Given the description of an element on the screen output the (x, y) to click on. 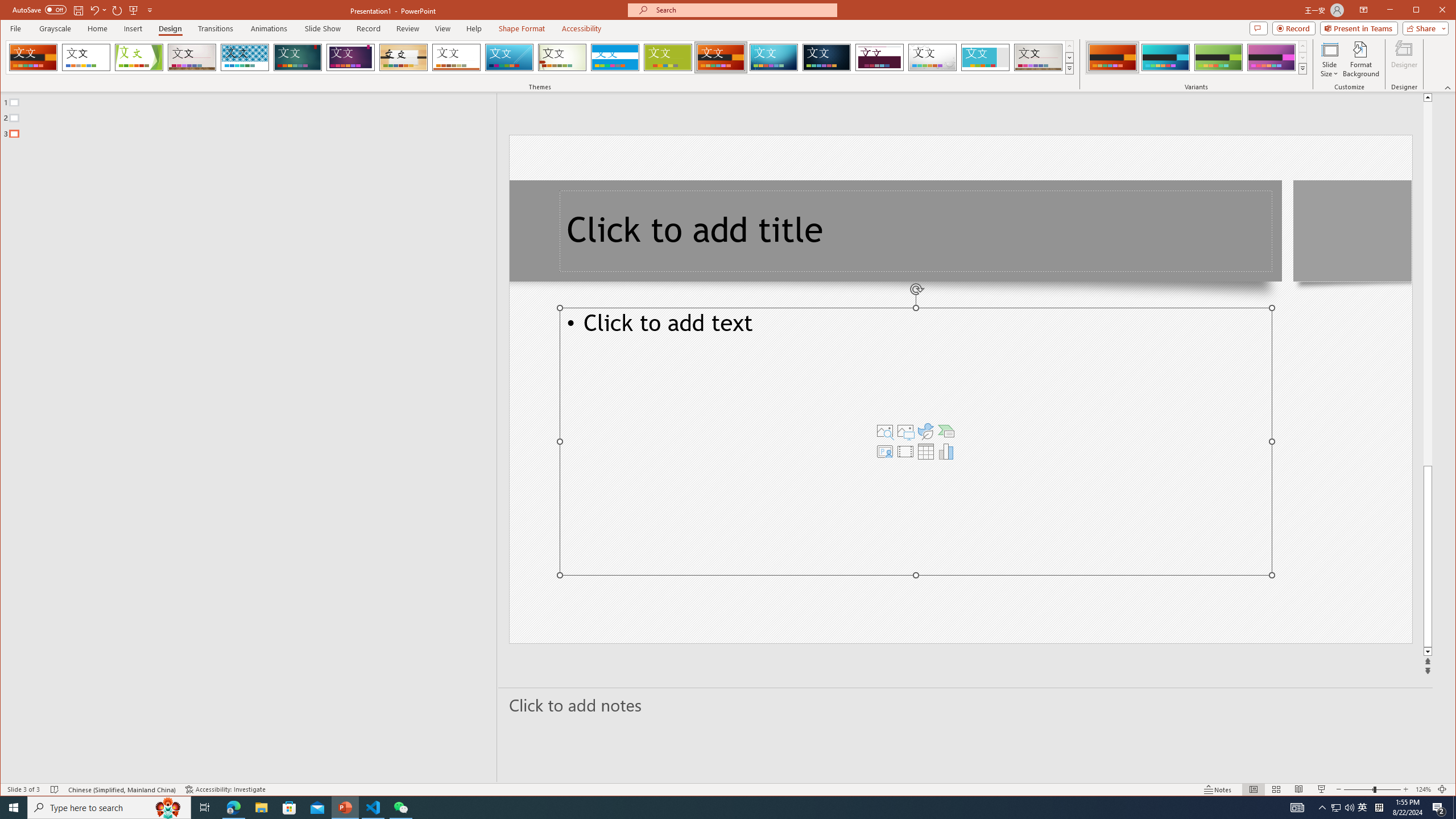
Insert Chart (946, 451)
Gallery (1037, 57)
Basis (668, 57)
Frame (985, 57)
Format Background (1360, 59)
Insert Video (905, 451)
Title TextBox (915, 230)
Insert Cameo (884, 451)
